Given the description of an element on the screen output the (x, y) to click on. 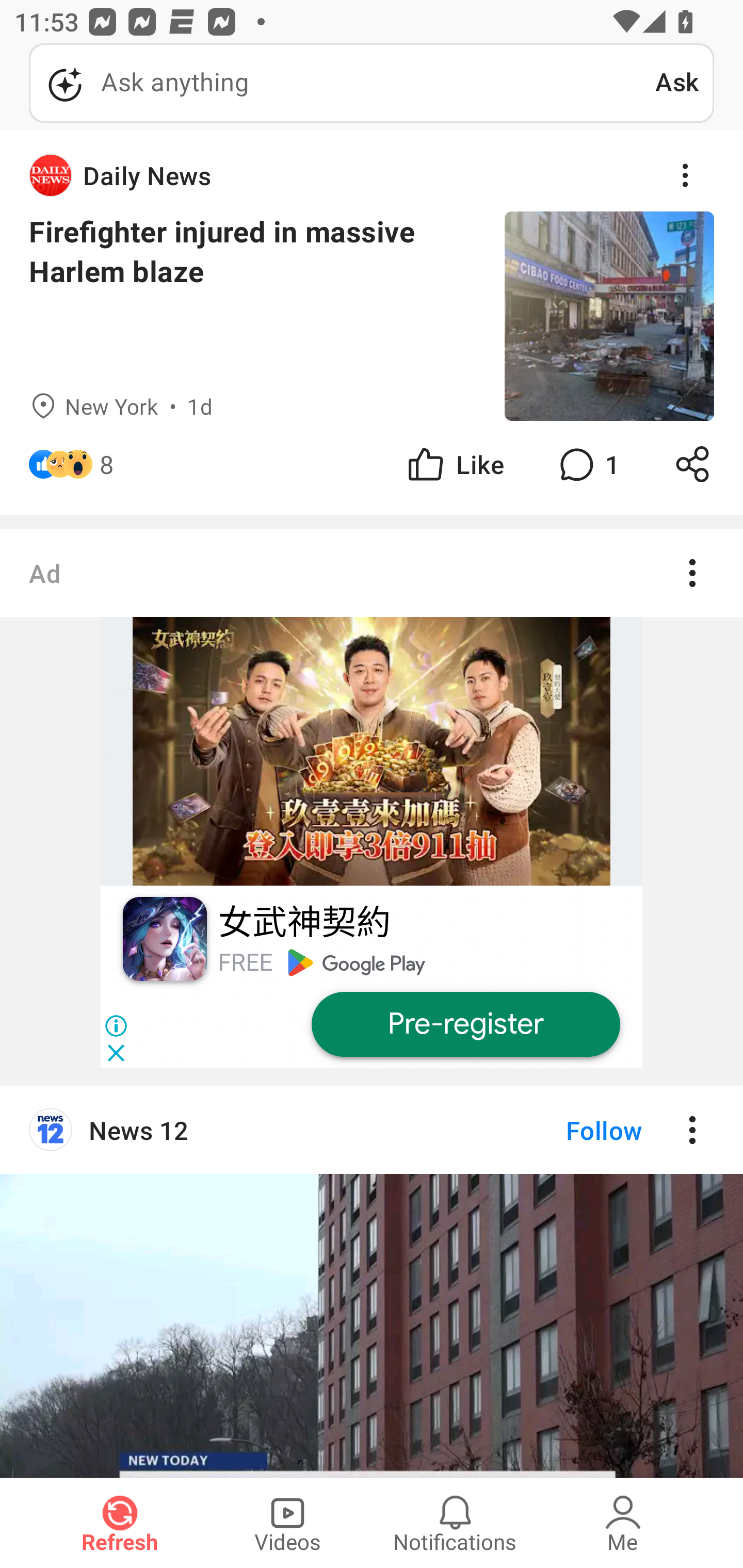
Ask anything (341, 82)
8 (106, 464)
Like (454, 464)
1 (587, 464)
女武神契約 (303, 923)
FREE (245, 962)
Pre-register (464, 1024)
News 12 Follow (371, 1130)
Follow (569, 1130)
Videos (287, 1522)
Notifications (455, 1522)
Me (622, 1522)
